Given the description of an element on the screen output the (x, y) to click on. 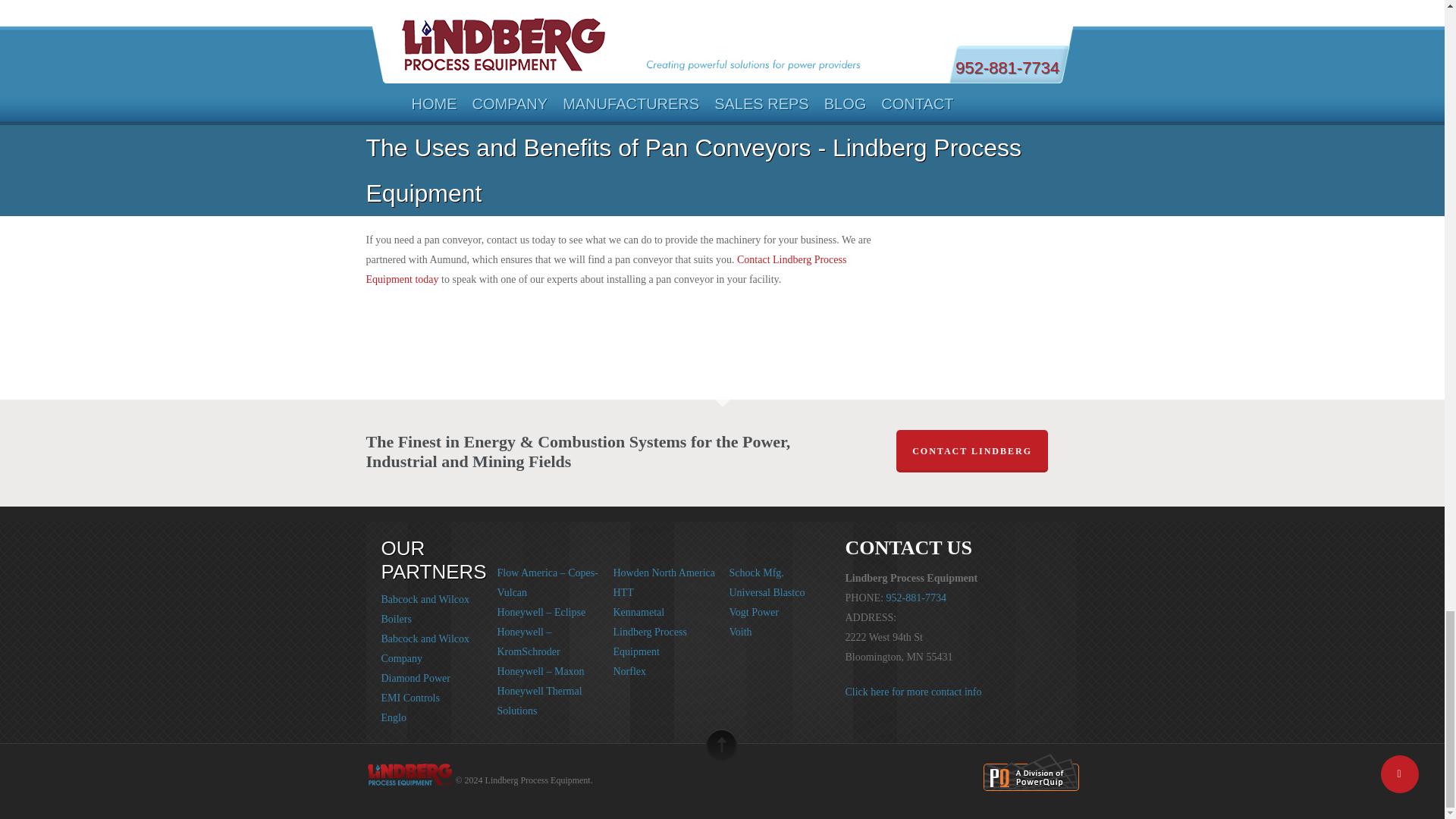
Contact Lindberg Process Equipment today (605, 269)
Babcock and Wilcox Boilers (424, 608)
CONTACT LINDBERG (972, 450)
Diamond Power (414, 677)
Babcock and Wilcox Company (424, 648)
EMI Controls (409, 697)
Englo (393, 717)
